Given the description of an element on the screen output the (x, y) to click on. 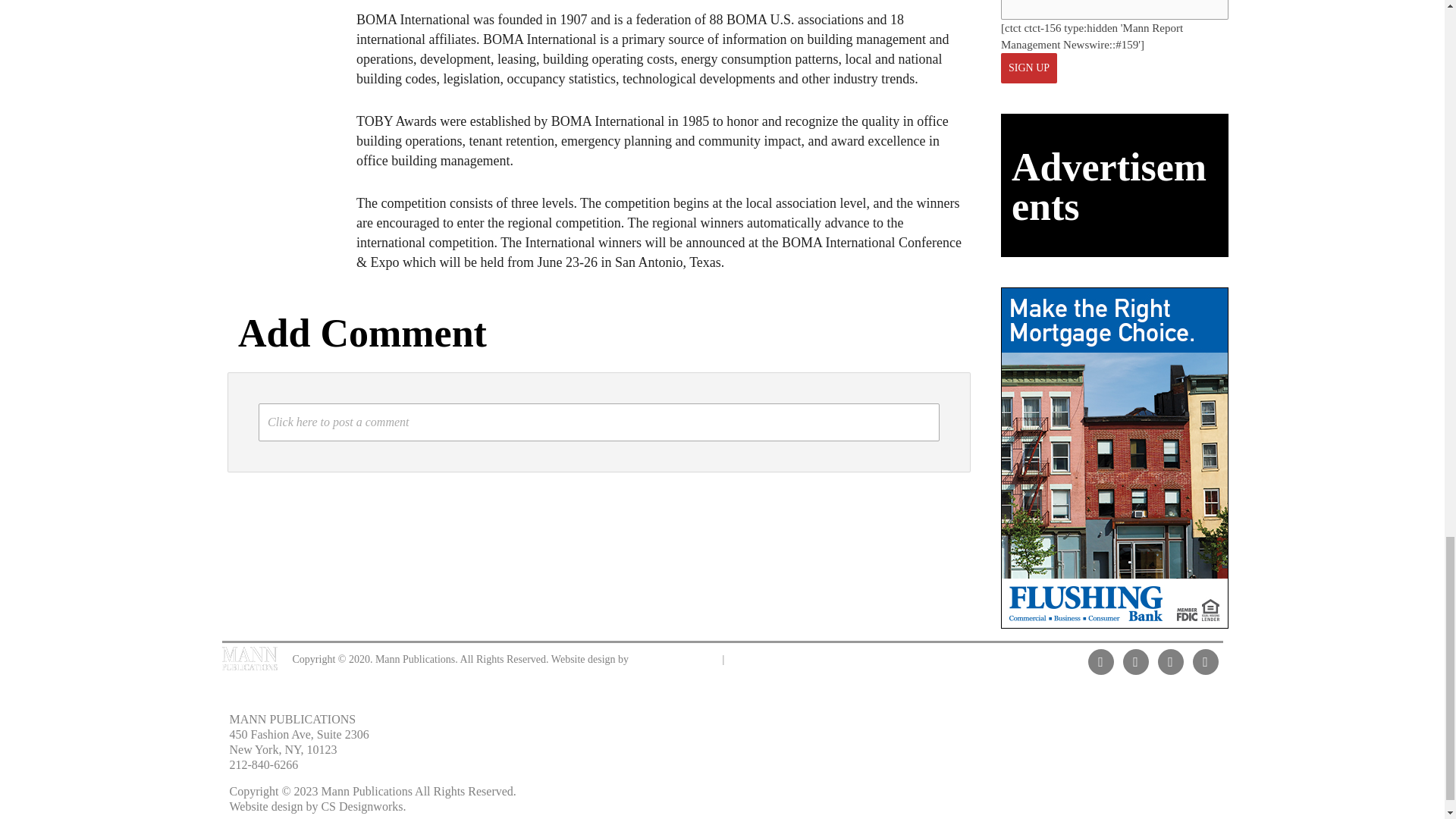
SIGN UP (1029, 68)
